Given the description of an element on the screen output the (x, y) to click on. 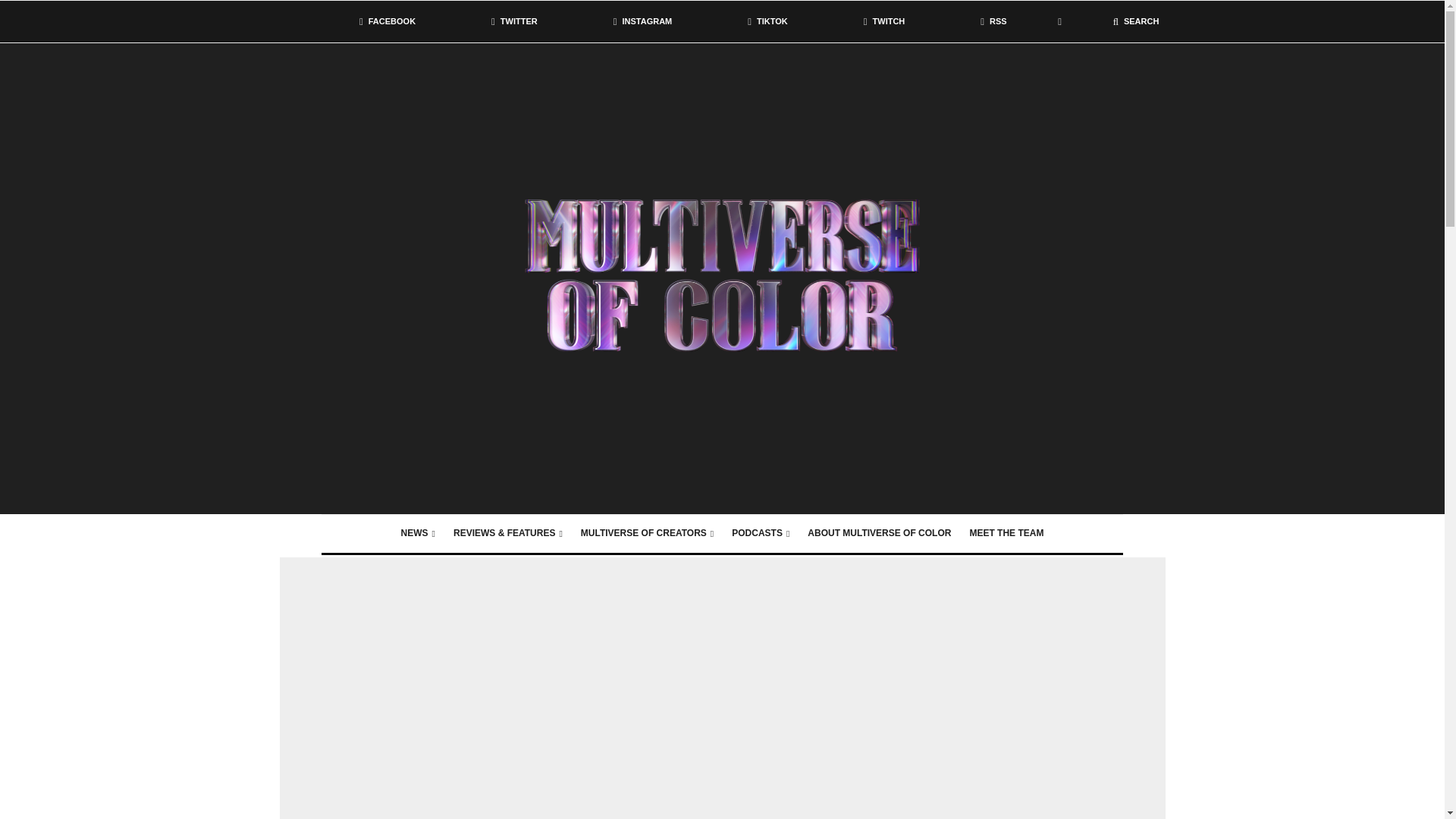
INSTAGRAM (642, 21)
TIKTOK (767, 21)
TWITCH (884, 21)
RSS (992, 21)
NEWS (417, 533)
FACEBOOK (386, 21)
TWITTER (513, 21)
SEARCH (1135, 21)
